Given the description of an element on the screen output the (x, y) to click on. 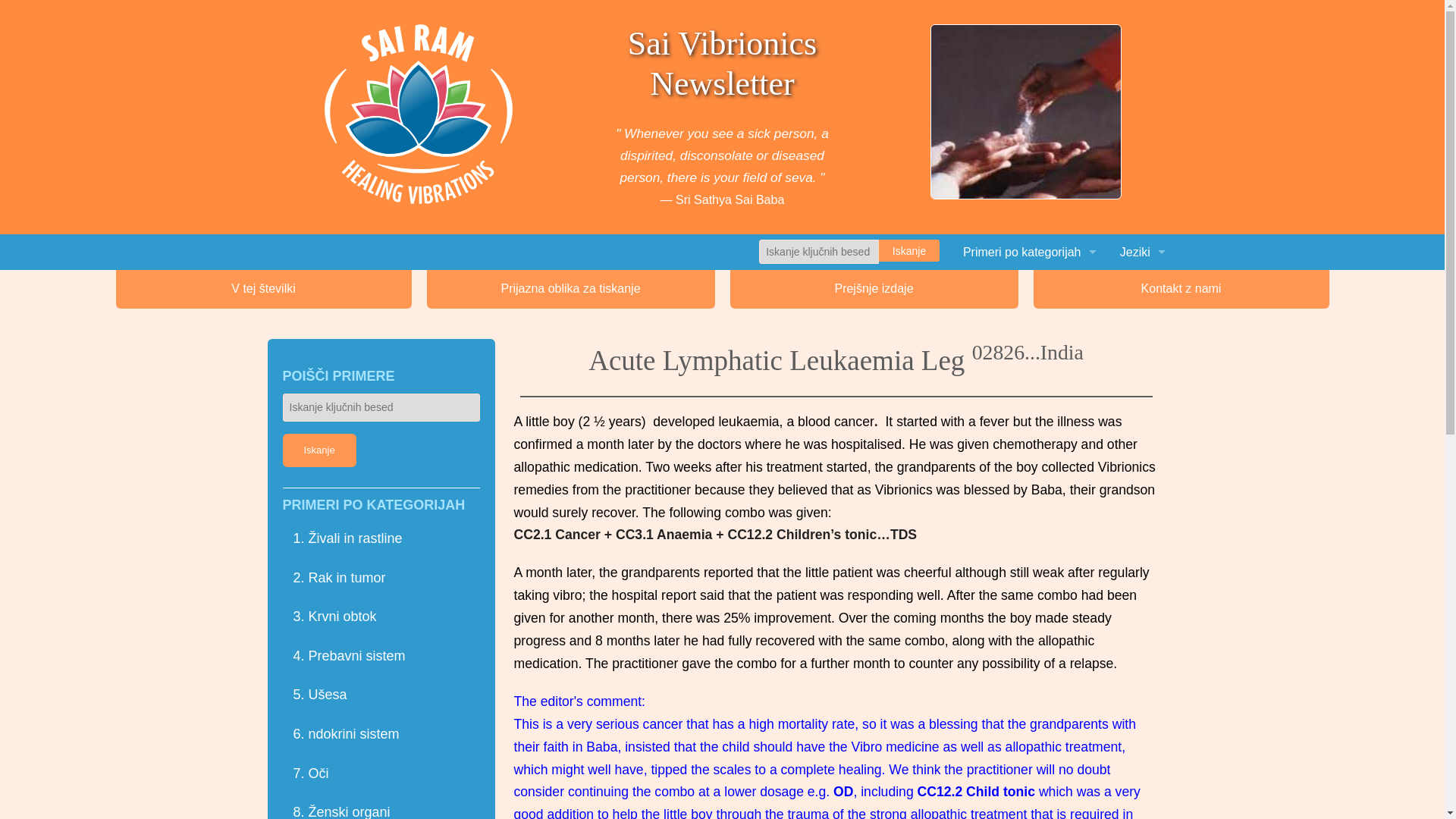
Kategorije 14-18 (1029, 394)
Kategorije 1-4 (1029, 287)
Kategorije 19-21 (1029, 429)
Kategorije 9-13 (1029, 358)
Kategorije 5-8 (1029, 323)
Iskanje (909, 250)
4. Prebavni sistem (871, 394)
Primeri po kategorijah (1029, 252)
2. Rak in tumor (871, 323)
3. Krvni obtok (871, 358)
